Given the description of an element on the screen output the (x, y) to click on. 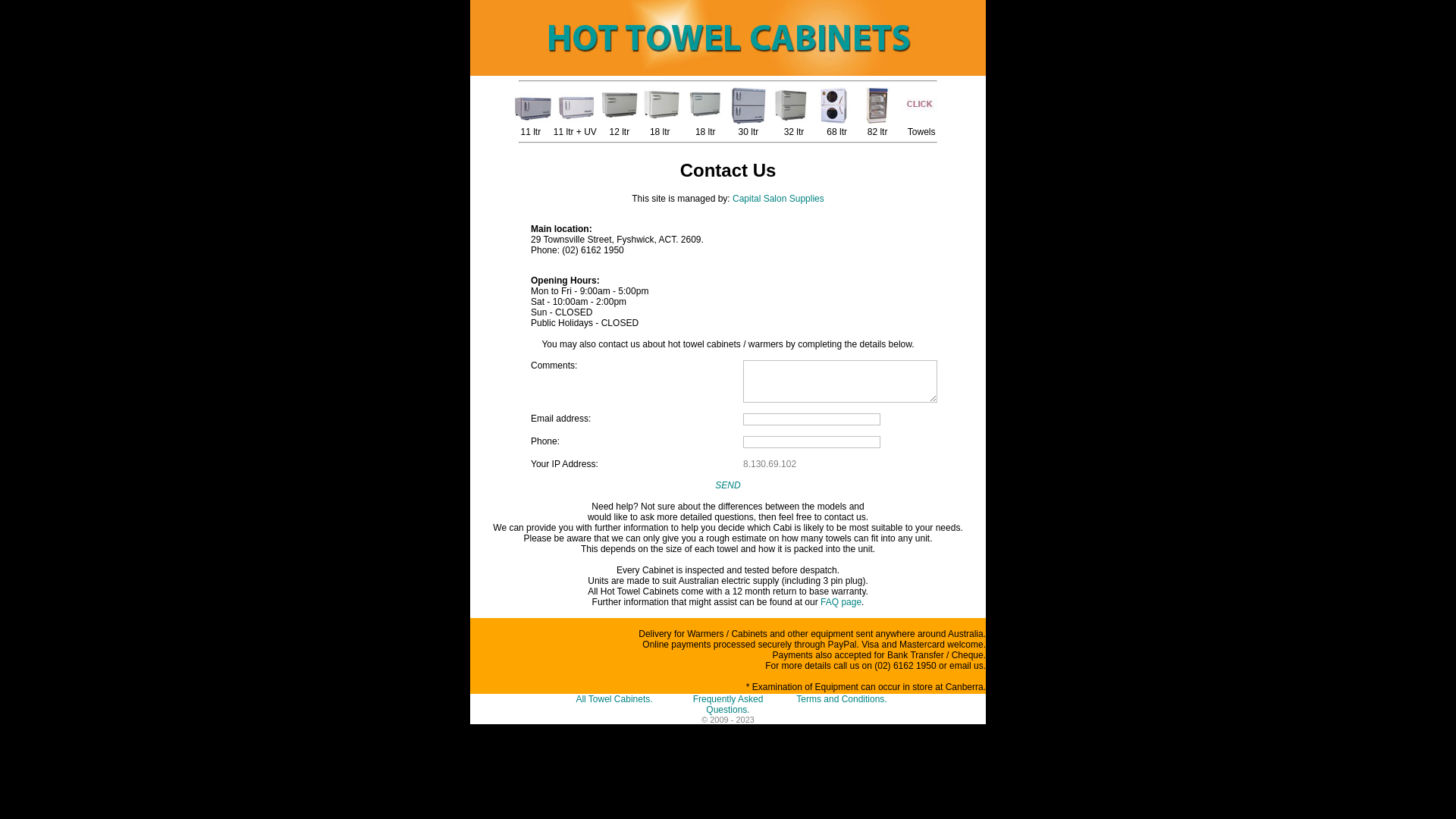
* Examination of Equipment can occur in store at Canberra. Element type: text (865, 686)
SEND Element type: text (727, 485)
email us Element type: text (966, 665)
Frequently Asked Questions. Element type: text (728, 704)
Terms and Conditions. Element type: text (841, 698)
FAQ page Element type: text (840, 601)
Capital Salon Supplies Element type: text (778, 198)
All Towel Cabinets. Element type: text (613, 698)
